Given the description of an element on the screen output the (x, y) to click on. 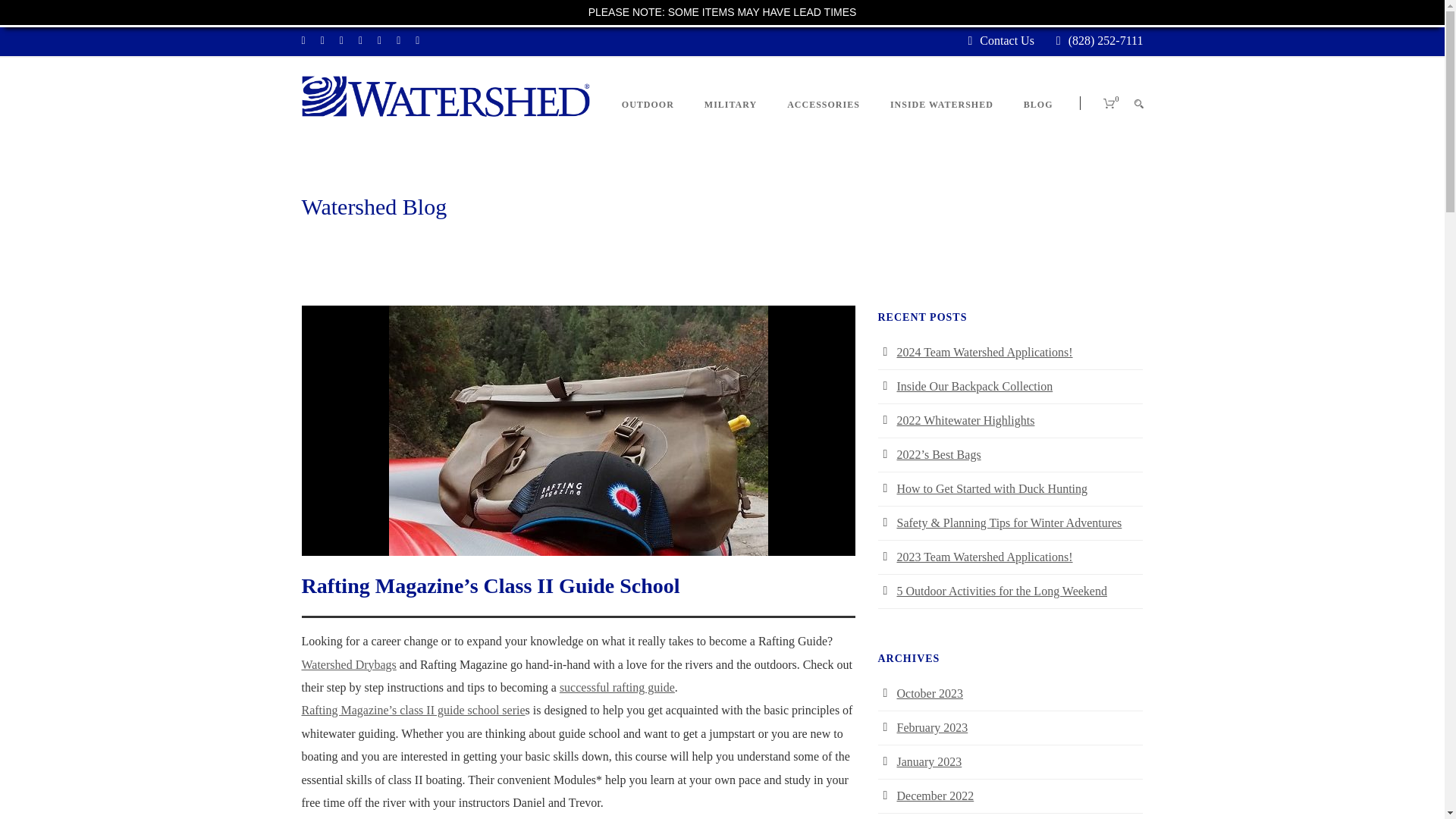
OUTDOOR (654, 122)
Rafting Magazine's Class II Guide School - Watershed Drybags (1138, 103)
Rafting Magazine's Class II Guide School - Watershed Drybags (445, 96)
Rafting Magazine's Class II Guide School - Watershed Drybags (1107, 103)
Contact Us (1006, 40)
successful rafting guide (617, 686)
ACCESSORIES (823, 122)
Watershed Drybags (348, 664)
MILITARY (729, 122)
